Given the description of an element on the screen output the (x, y) to click on. 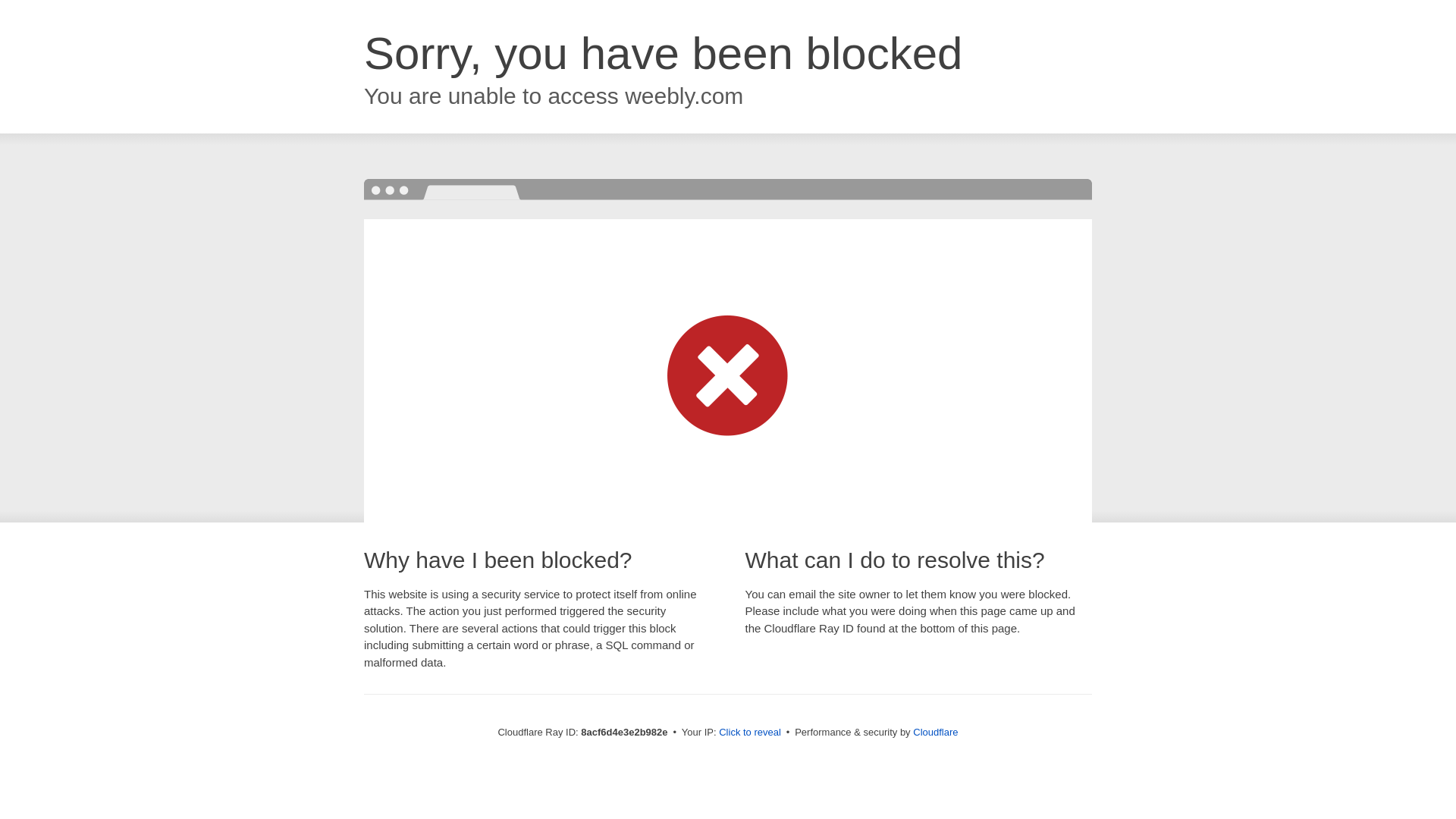
Click to reveal (749, 732)
Cloudflare (935, 731)
